Given the description of an element on the screen output the (x, y) to click on. 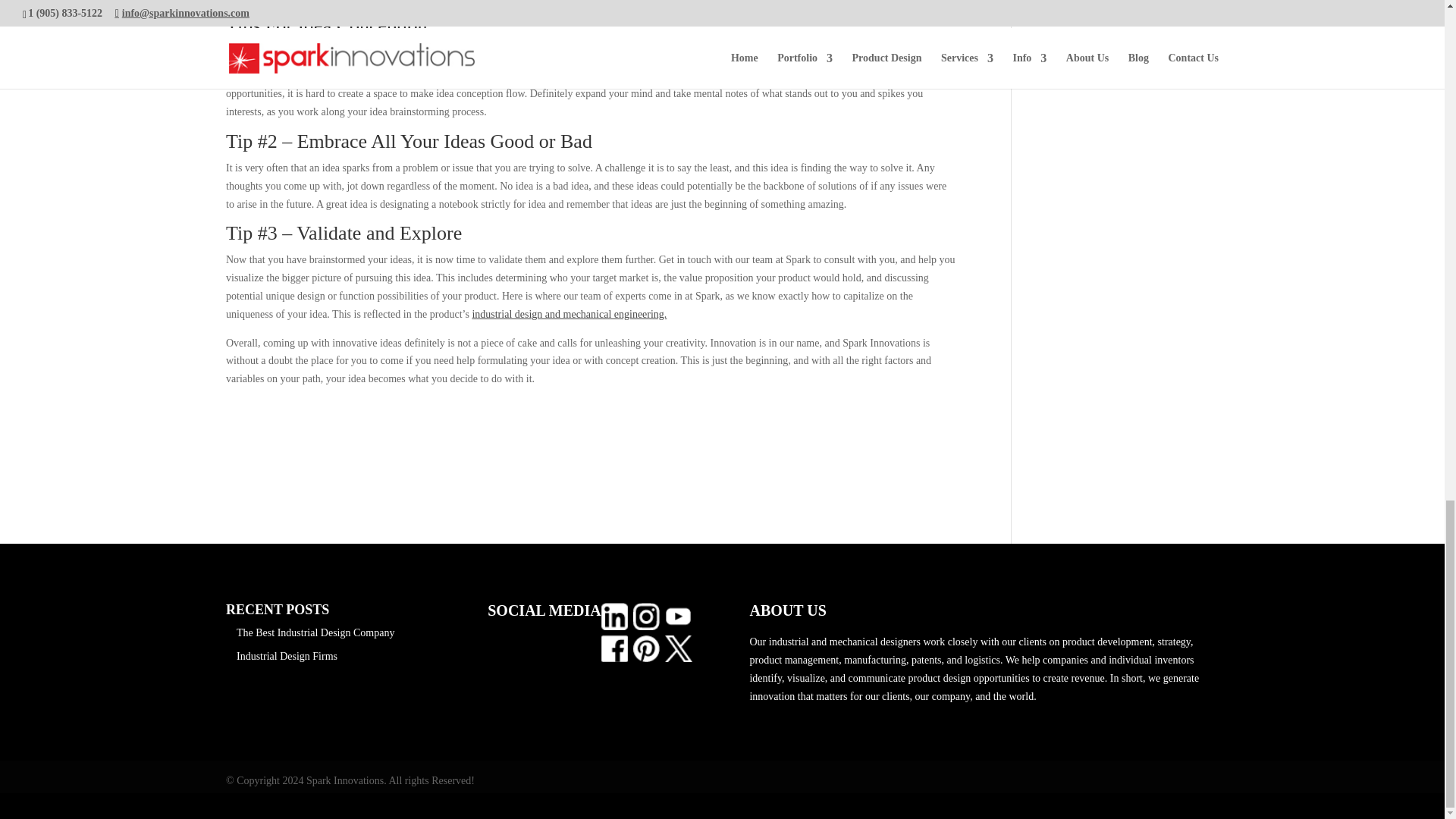
Google conversion frame (75, 803)
